Given the description of an element on the screen output the (x, y) to click on. 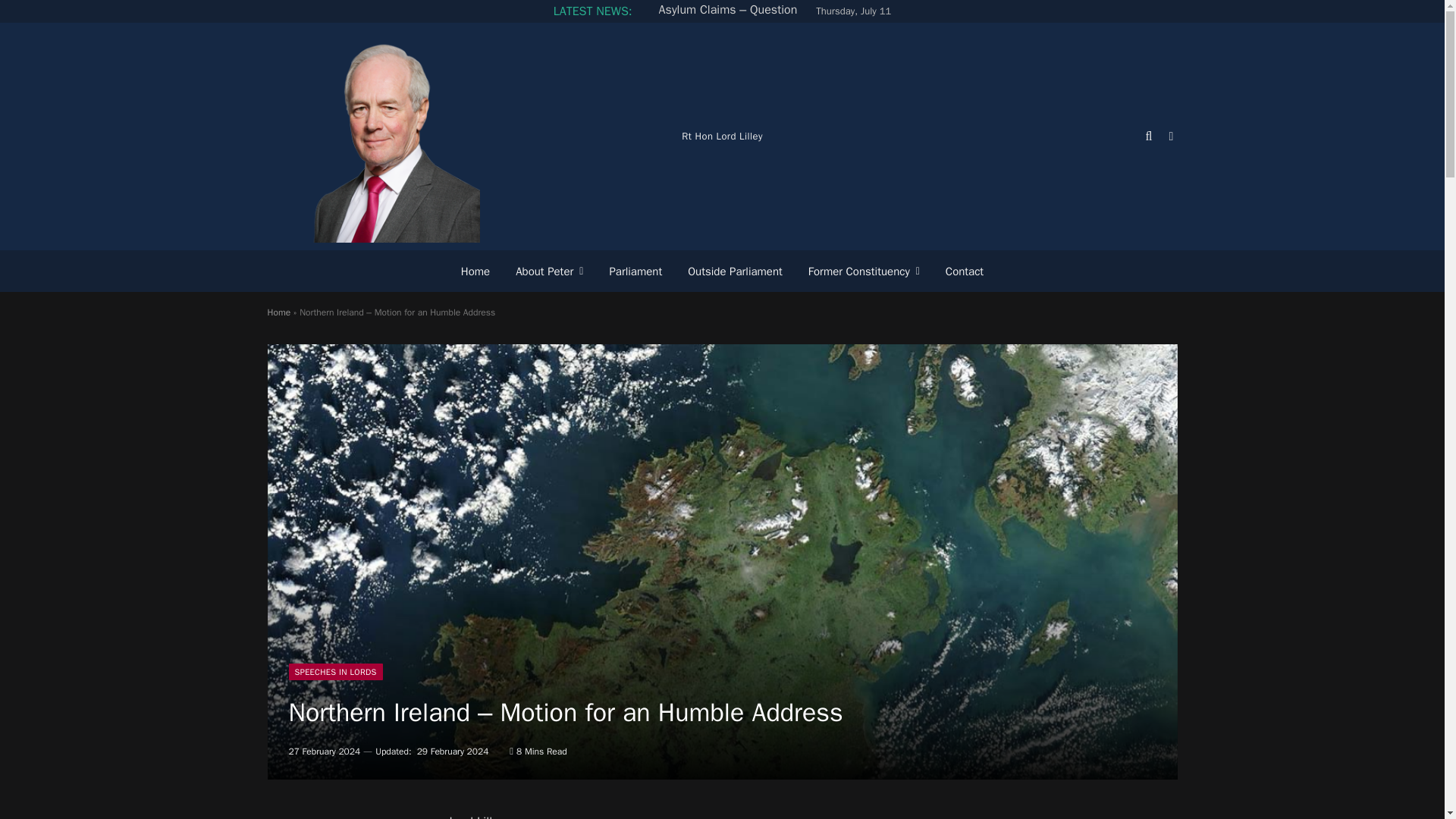
Home (277, 312)
Contact (964, 270)
Switch to Light Design. (1168, 136)
SPEECHES IN LORDS (334, 671)
Rt Hon Lord Lilley (372, 136)
About Peter (548, 270)
Home (475, 270)
Parliament (635, 270)
Outside Parliament (734, 270)
Former Constituency (863, 270)
